Given the description of an element on the screen output the (x, y) to click on. 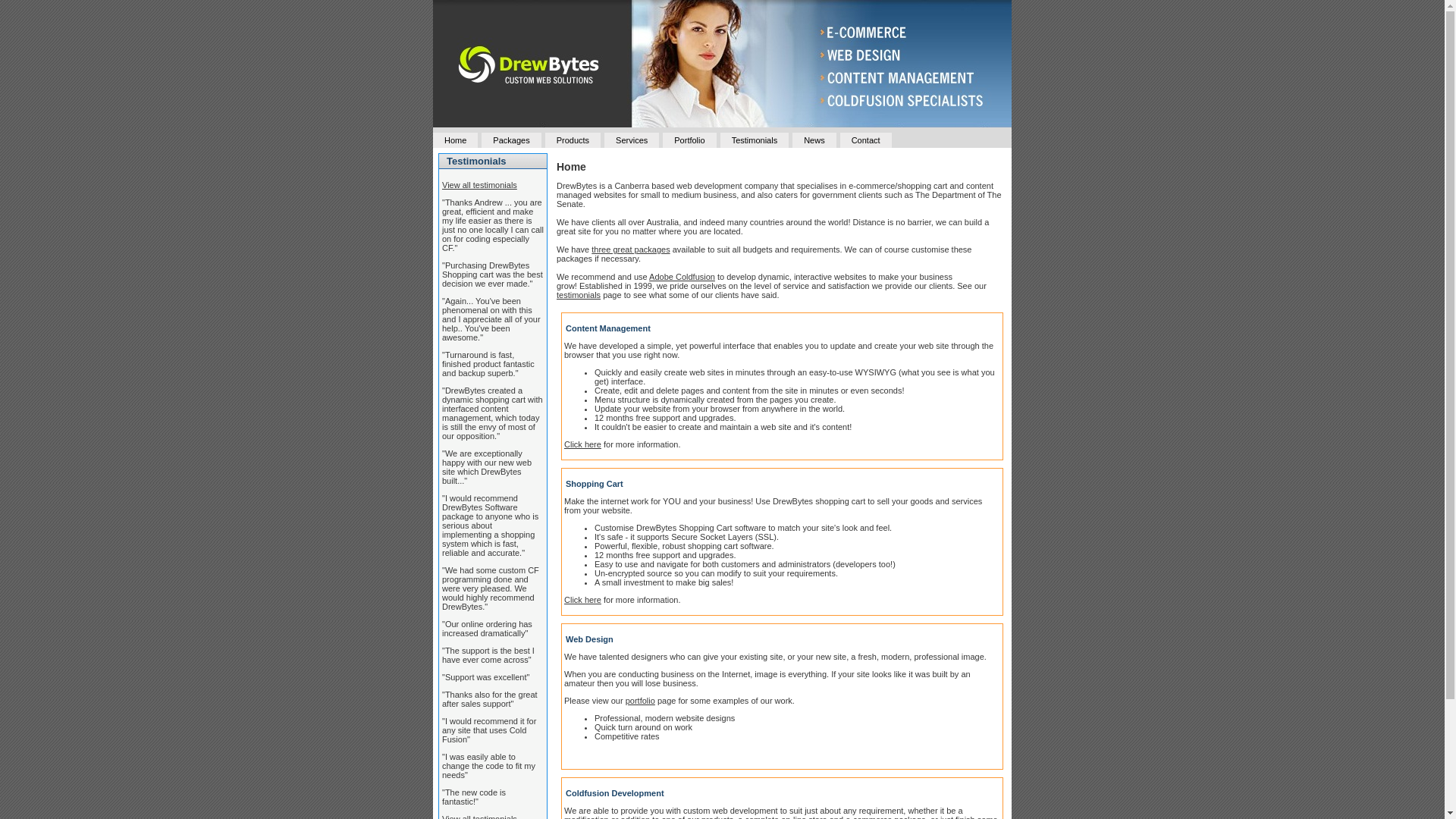
Home Element type: text (455, 139)
View all testimonials Element type: text (479, 184)
Contact Element type: text (865, 139)
Testimonials Element type: text (754, 139)
Portfolio Element type: text (688, 139)
News Element type: text (814, 139)
Products Element type: text (572, 139)
Click here Element type: text (582, 443)
testimonials Element type: text (578, 294)
Services Element type: text (631, 139)
portfolio Element type: text (640, 700)
Click here Element type: text (582, 599)
Adobe Coldfusion Element type: text (682, 276)
Packages Element type: text (510, 139)
three great packages Element type: text (630, 249)
